Given the description of an element on the screen output the (x, y) to click on. 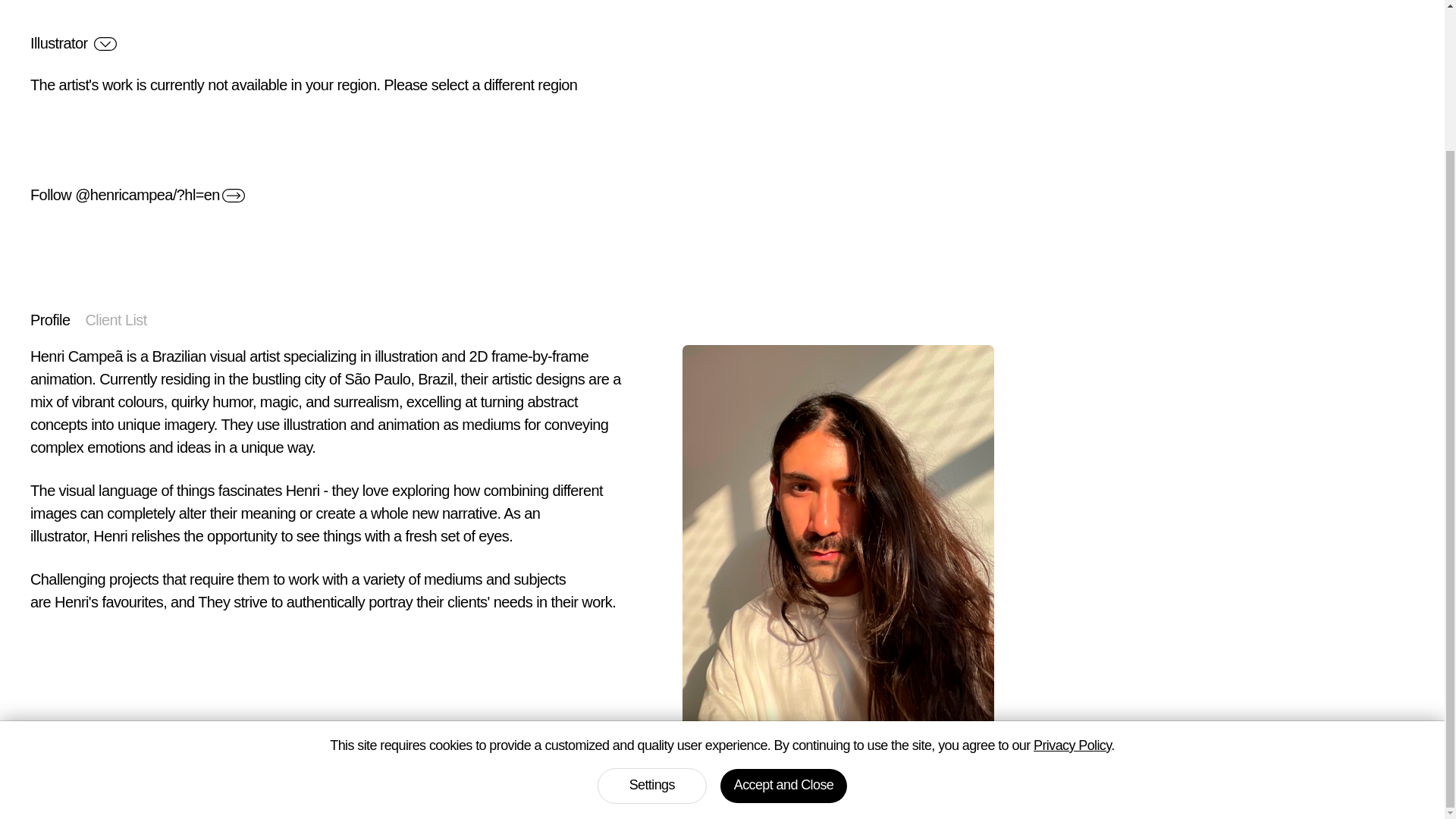
Contact Agent (89, 793)
Next Artist (1366, 793)
Illustrator (73, 43)
Previous Artist (1231, 793)
Illustrators (1094, 793)
